Given the description of an element on the screen output the (x, y) to click on. 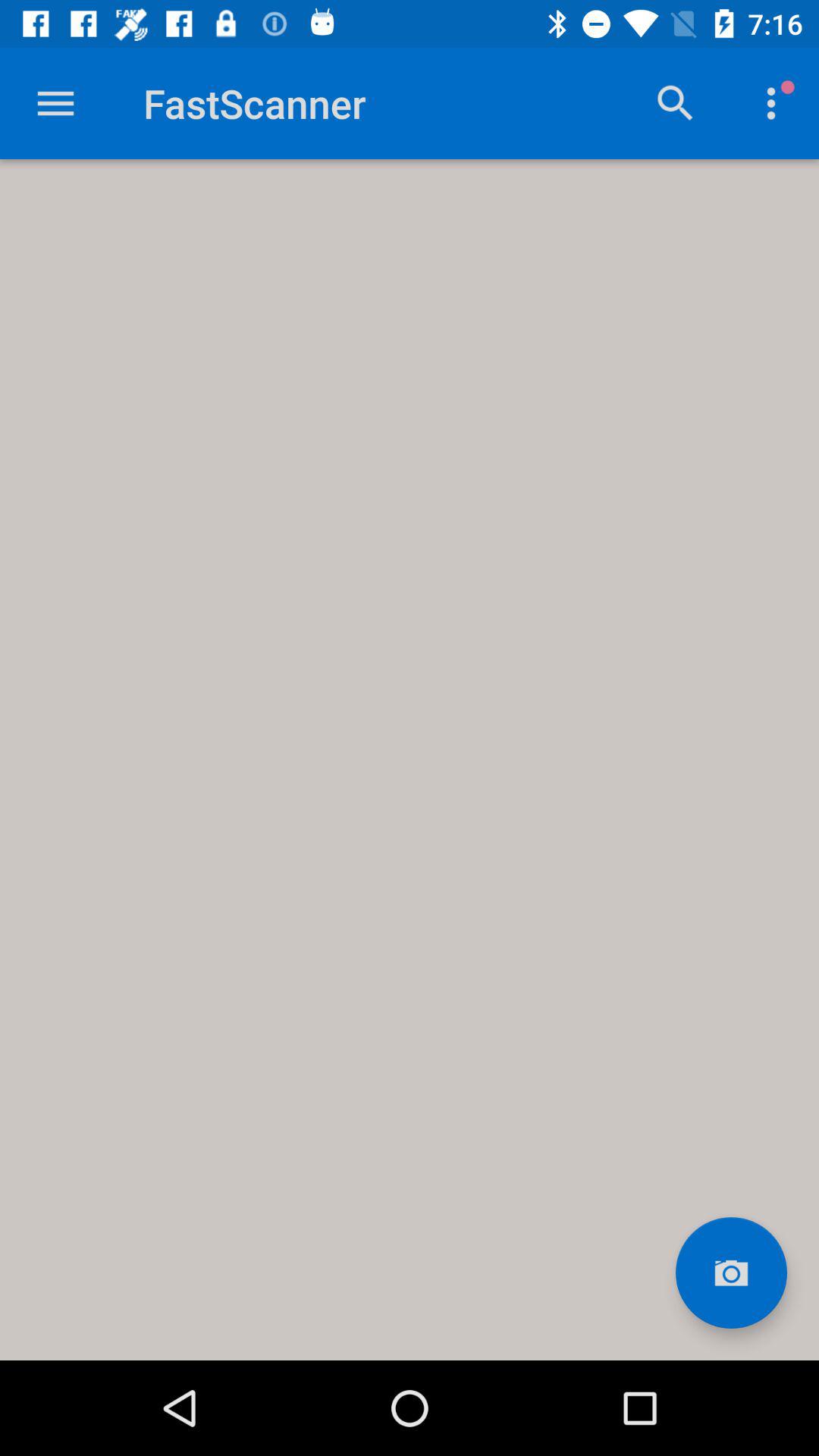
open main menu (55, 103)
